Given the description of an element on the screen output the (x, y) to click on. 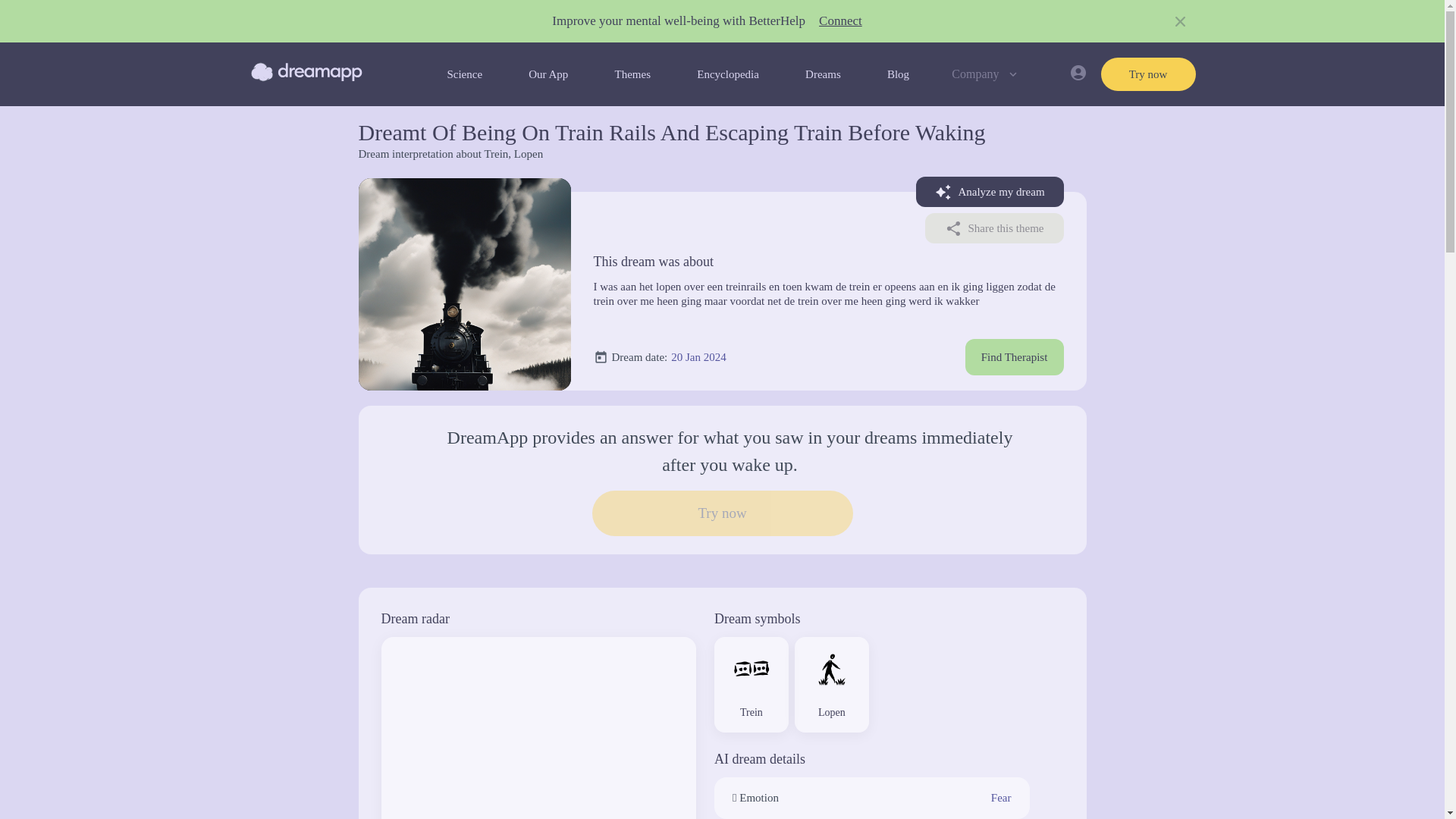
Analyze my dream (989, 191)
Encyclopedia (727, 74)
Company (986, 73)
Our App (548, 74)
Improve your mental well-being with BetterHelp (678, 21)
Try now (1147, 73)
Connect (839, 21)
Share this theme (994, 227)
Blog (897, 74)
Science (464, 74)
Dreams (823, 74)
Themes (632, 74)
